Given the description of an element on the screen output the (x, y) to click on. 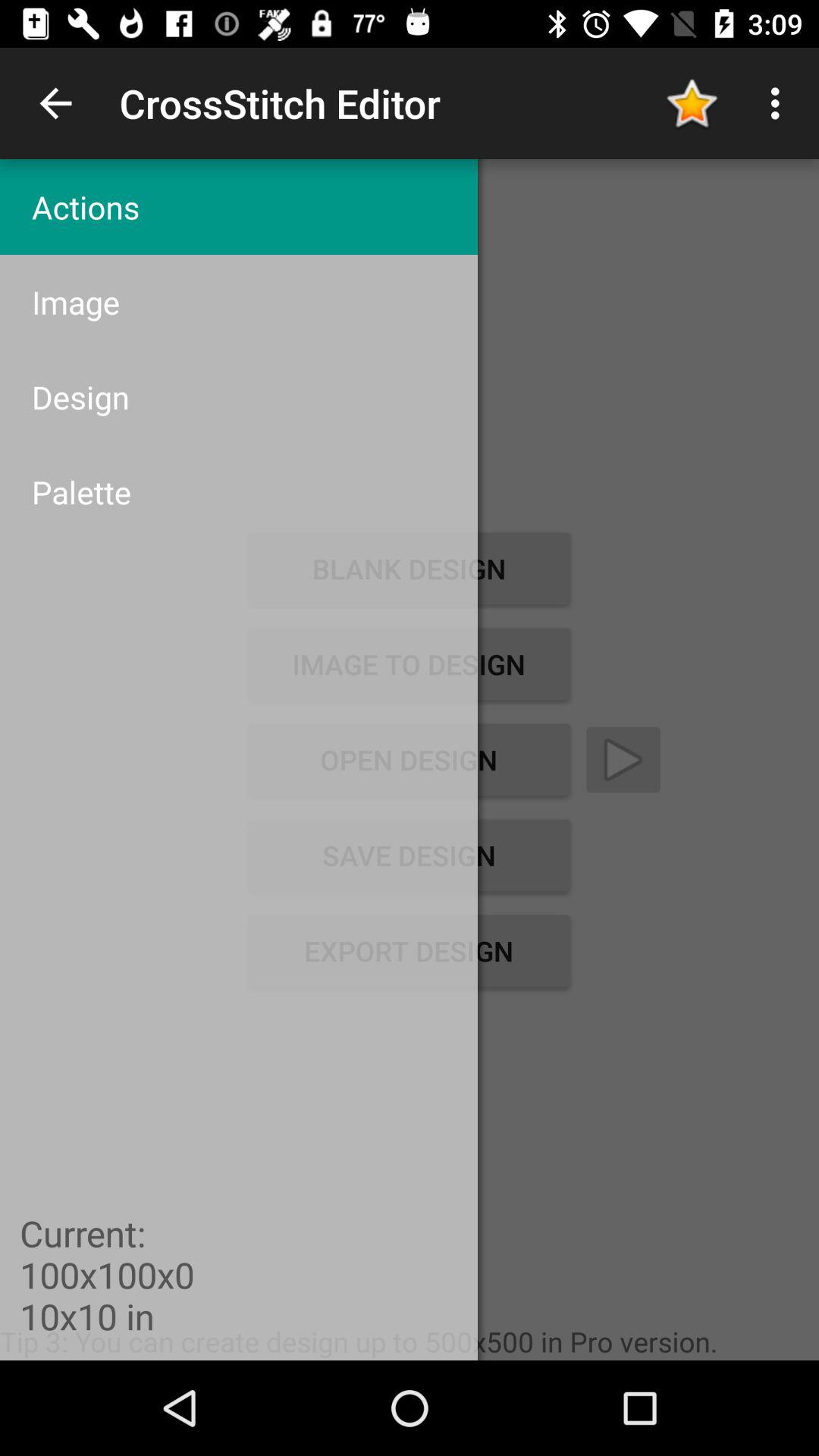
launch icon above image to design icon (238, 491)
